Given the description of an element on the screen output the (x, y) to click on. 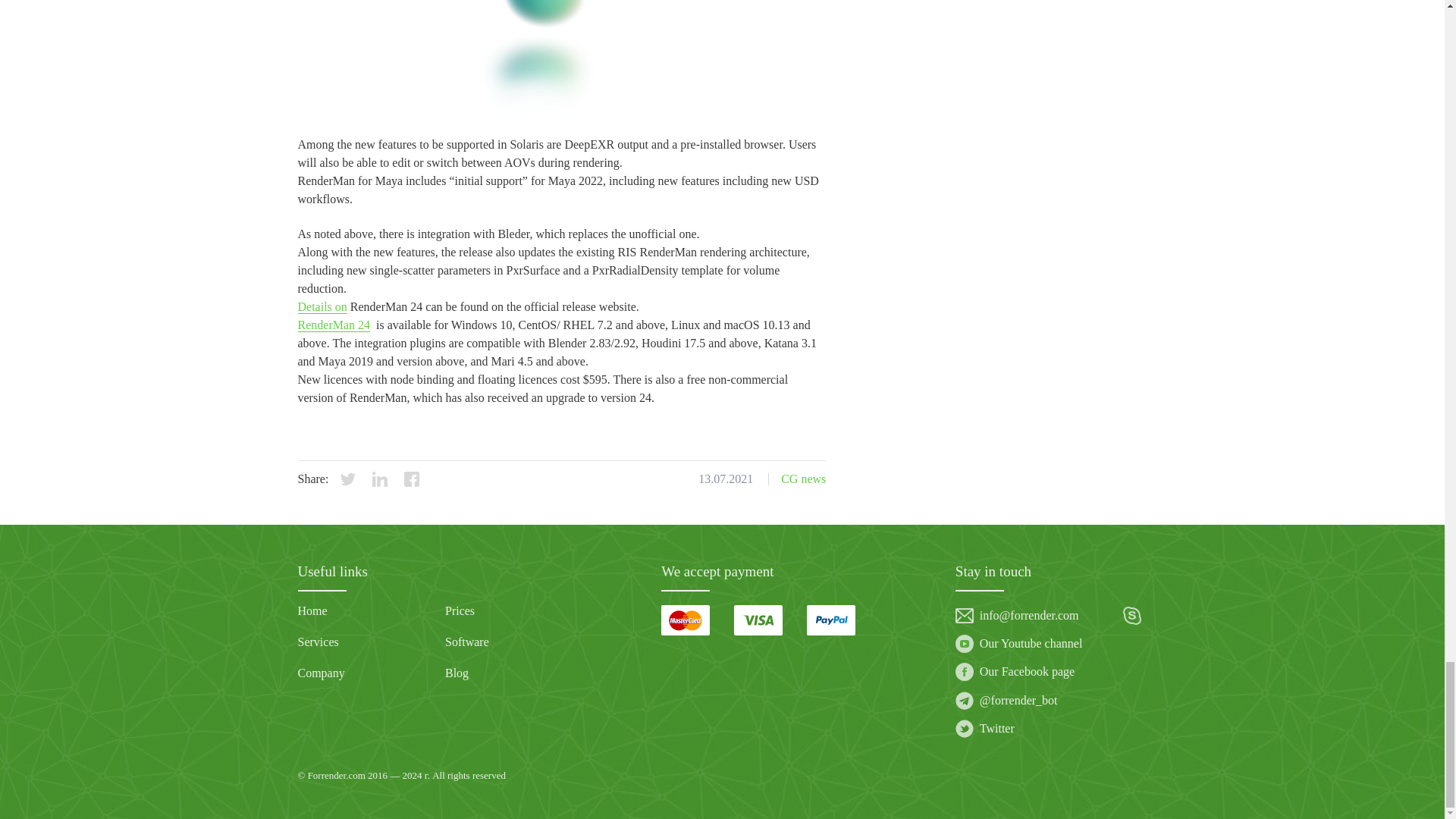
Details on (321, 306)
